Given the description of an element on the screen output the (x, y) to click on. 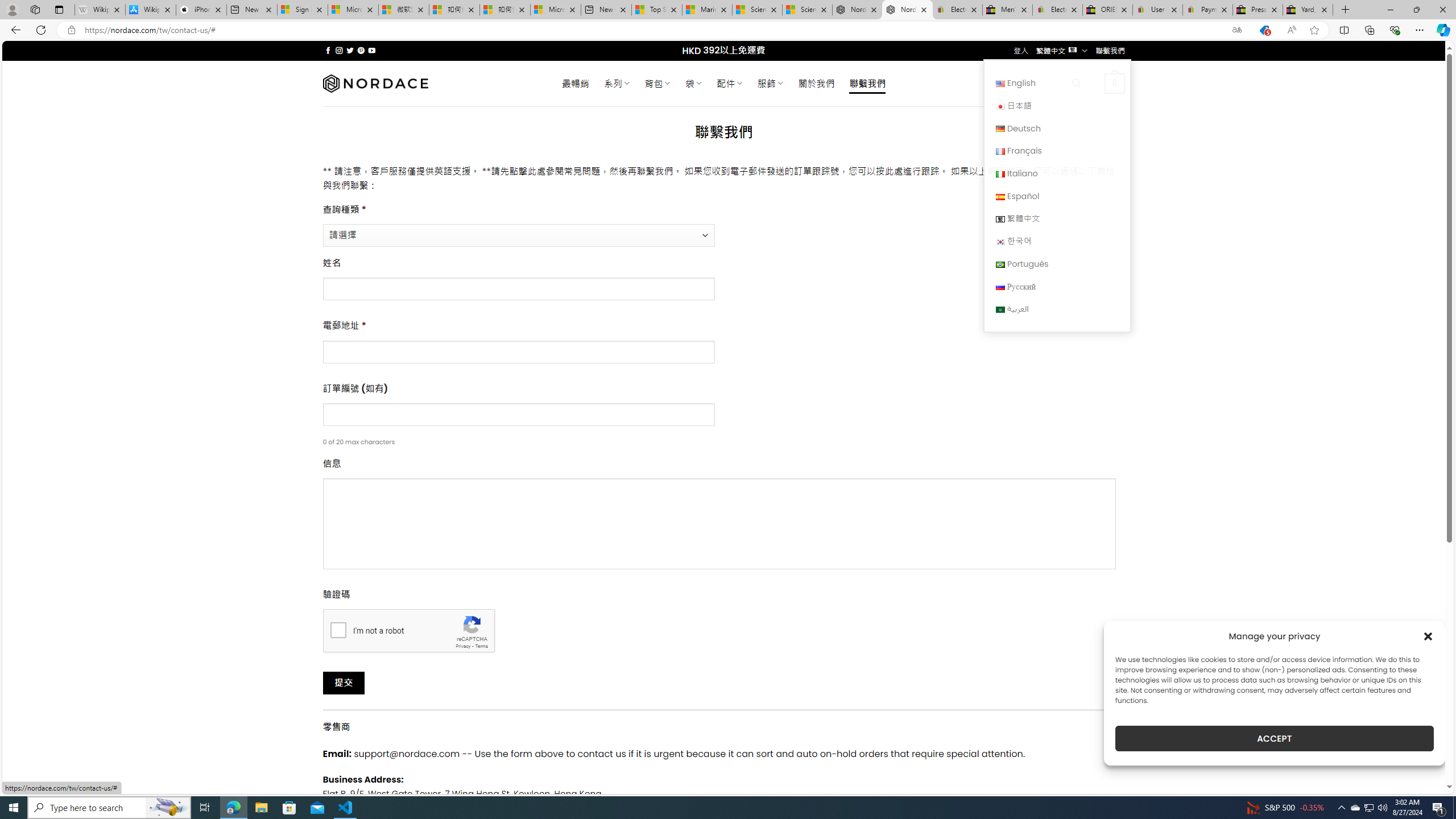
Microsoft account | Account Checkup (555, 9)
Press Room - eBay Inc. (1257, 9)
